Given the description of an element on the screen output the (x, y) to click on. 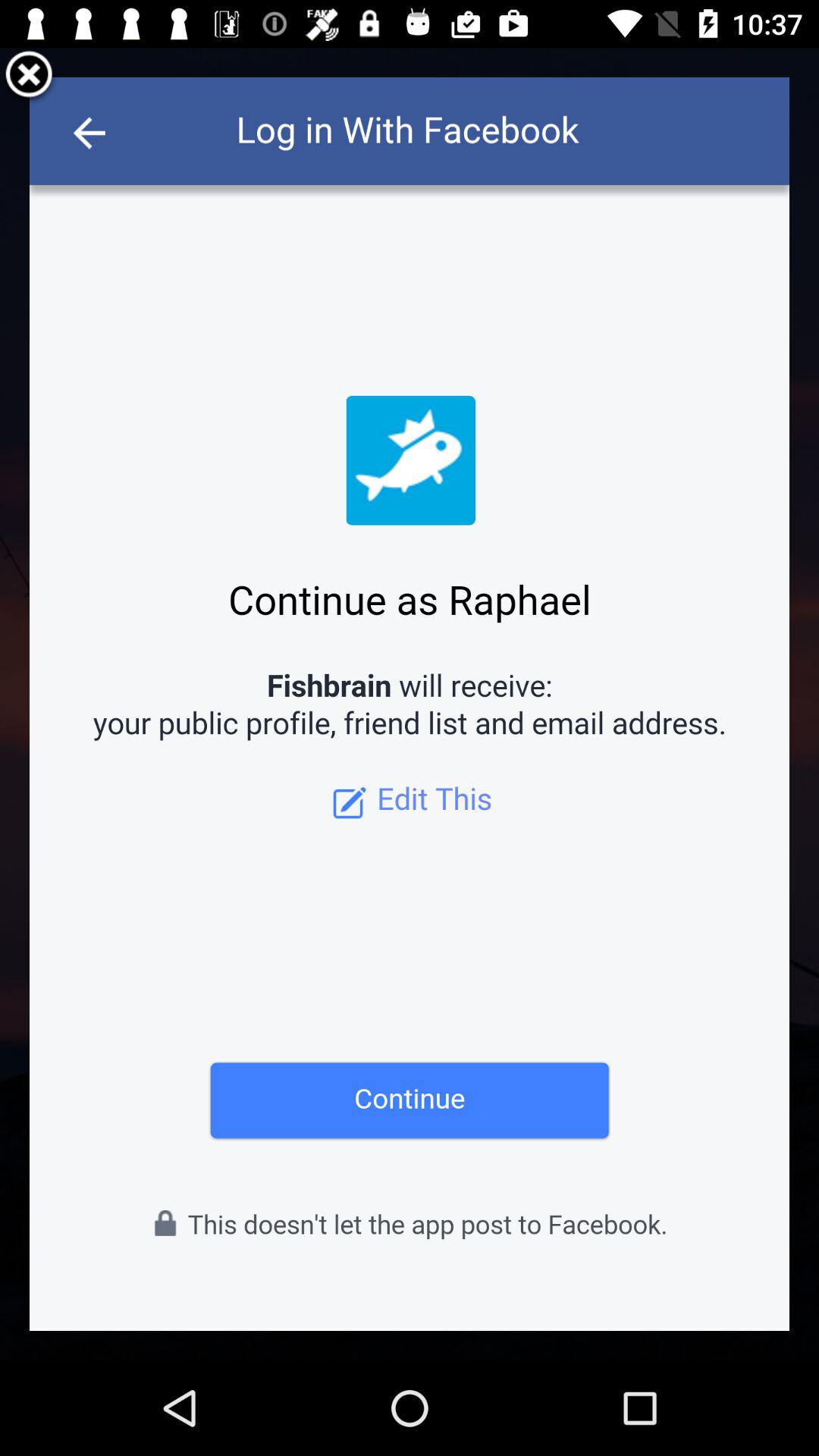
go to close (29, 76)
